Given the description of an element on the screen output the (x, y) to click on. 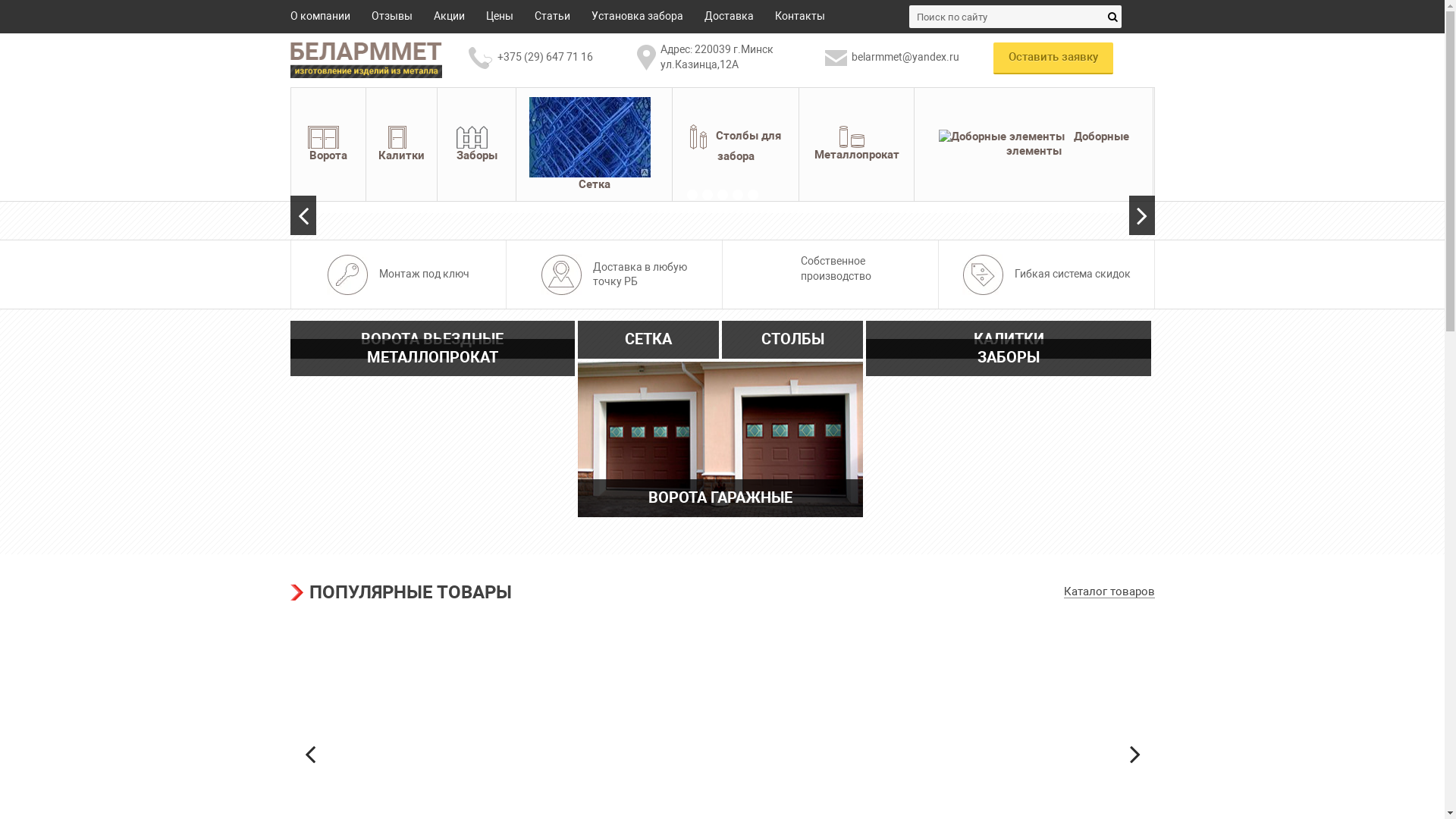
+375 (29) 647 71 16 Element type: text (545, 56)
4 Element type: text (737, 194)
3 Element type: text (722, 194)
5 Element type: text (752, 194)
1 Element type: text (692, 194)
2 Element type: text (707, 194)
